Given the description of an element on the screen output the (x, y) to click on. 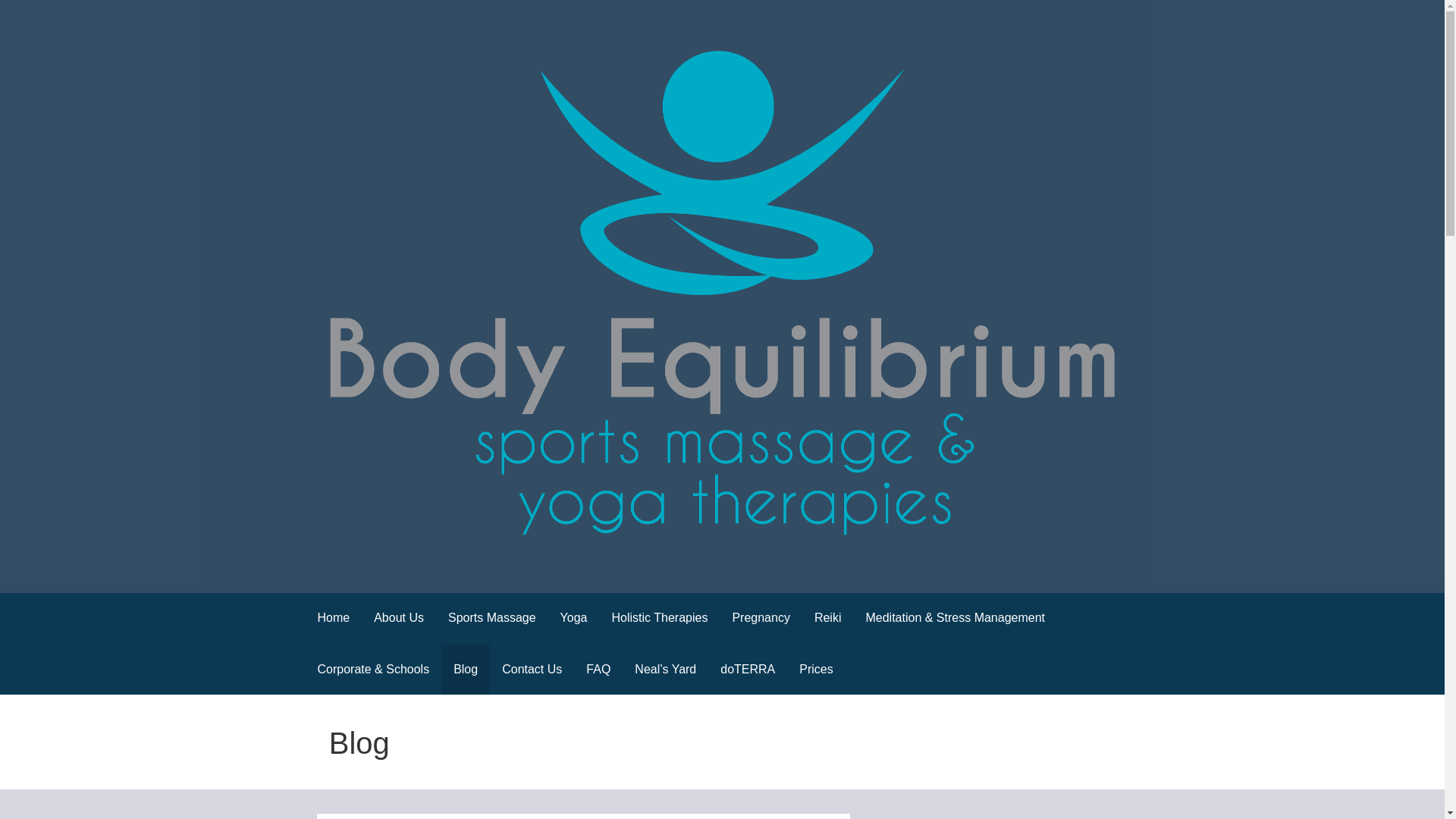
Prices (815, 668)
Pregnancy (760, 617)
Holistic Therapies (659, 617)
Yoga (573, 617)
Reiki (827, 617)
Blog (465, 668)
Body Equilibrium Sports Massage and Therapies in Daventry (660, 561)
Home (332, 617)
doTERRA (747, 668)
About Us (398, 617)
